Given the description of an element on the screen output the (x, y) to click on. 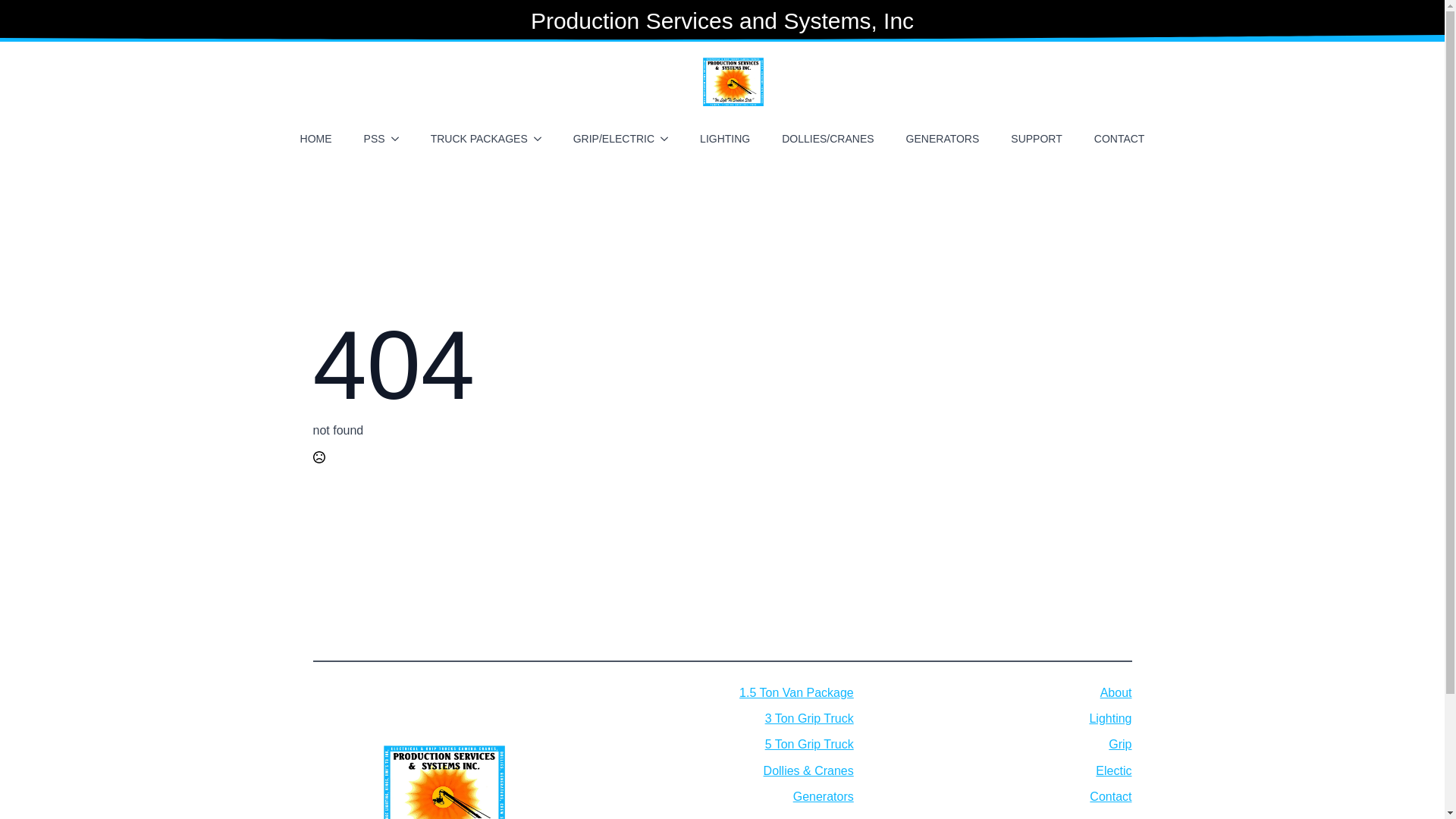
3 Ton Grip Truck (809, 718)
Lighting (1110, 718)
LIGHTING (724, 138)
1.5 Ton Van Package (796, 692)
GENERATORS (942, 138)
PSS (368, 138)
CONTACT (1119, 138)
Generators (823, 796)
5 Ton Grip Truck (809, 744)
About (1116, 692)
